Given the description of an element on the screen output the (x, y) to click on. 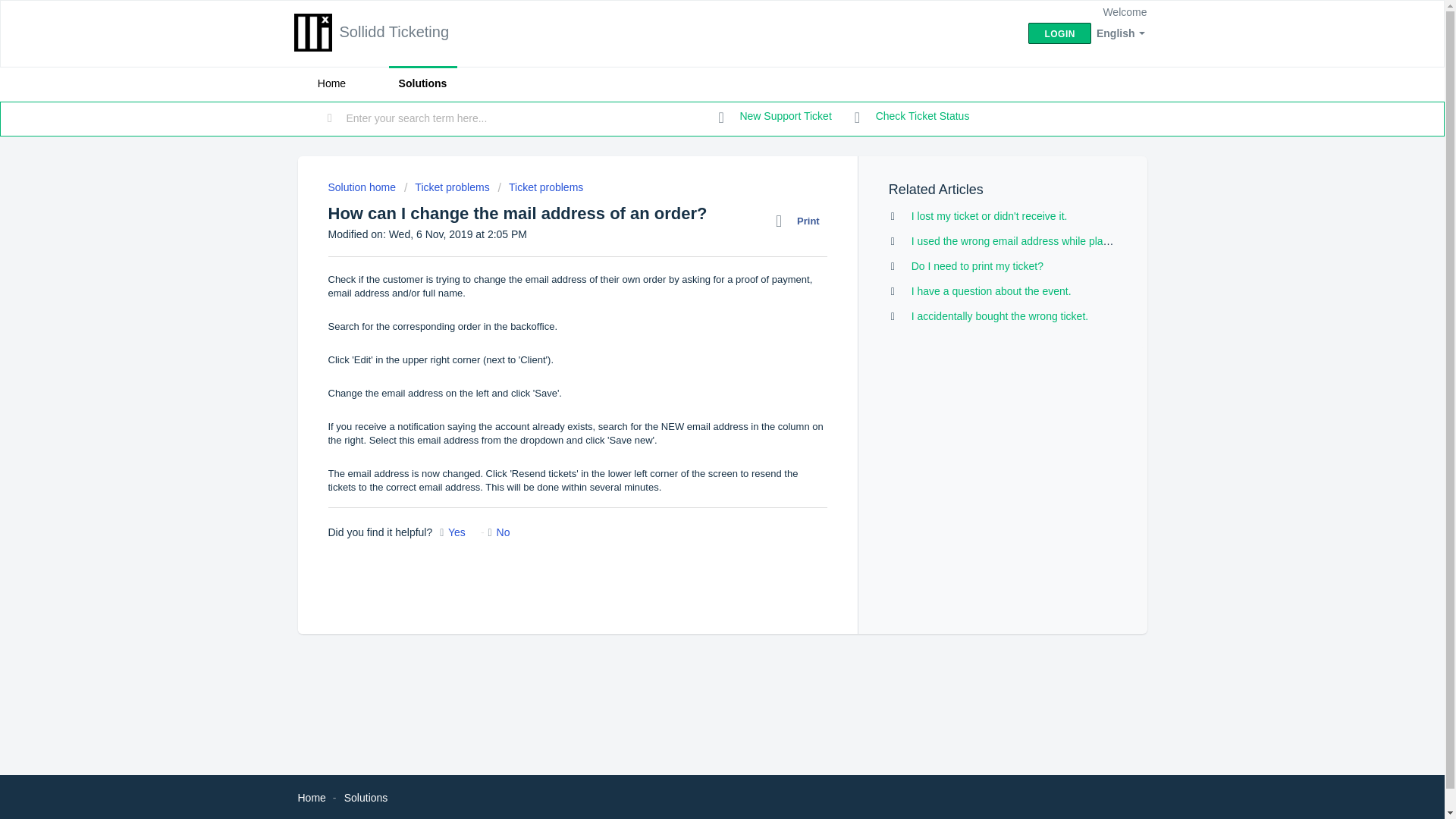
Do I need to print my ticket? (977, 265)
Solutions (365, 797)
Home (331, 83)
Solution home (362, 186)
LOGIN (1058, 33)
Home (310, 797)
Print (801, 220)
Print this Article (801, 220)
Ticket problems (446, 186)
Check Ticket Status (911, 116)
Solutions (422, 83)
I accidentally bought the wrong ticket. (999, 316)
Check ticket status (911, 116)
I used the wrong email address while placing my order. (1040, 241)
I have a question about the event. (991, 291)
